Given the description of an element on the screen output the (x, y) to click on. 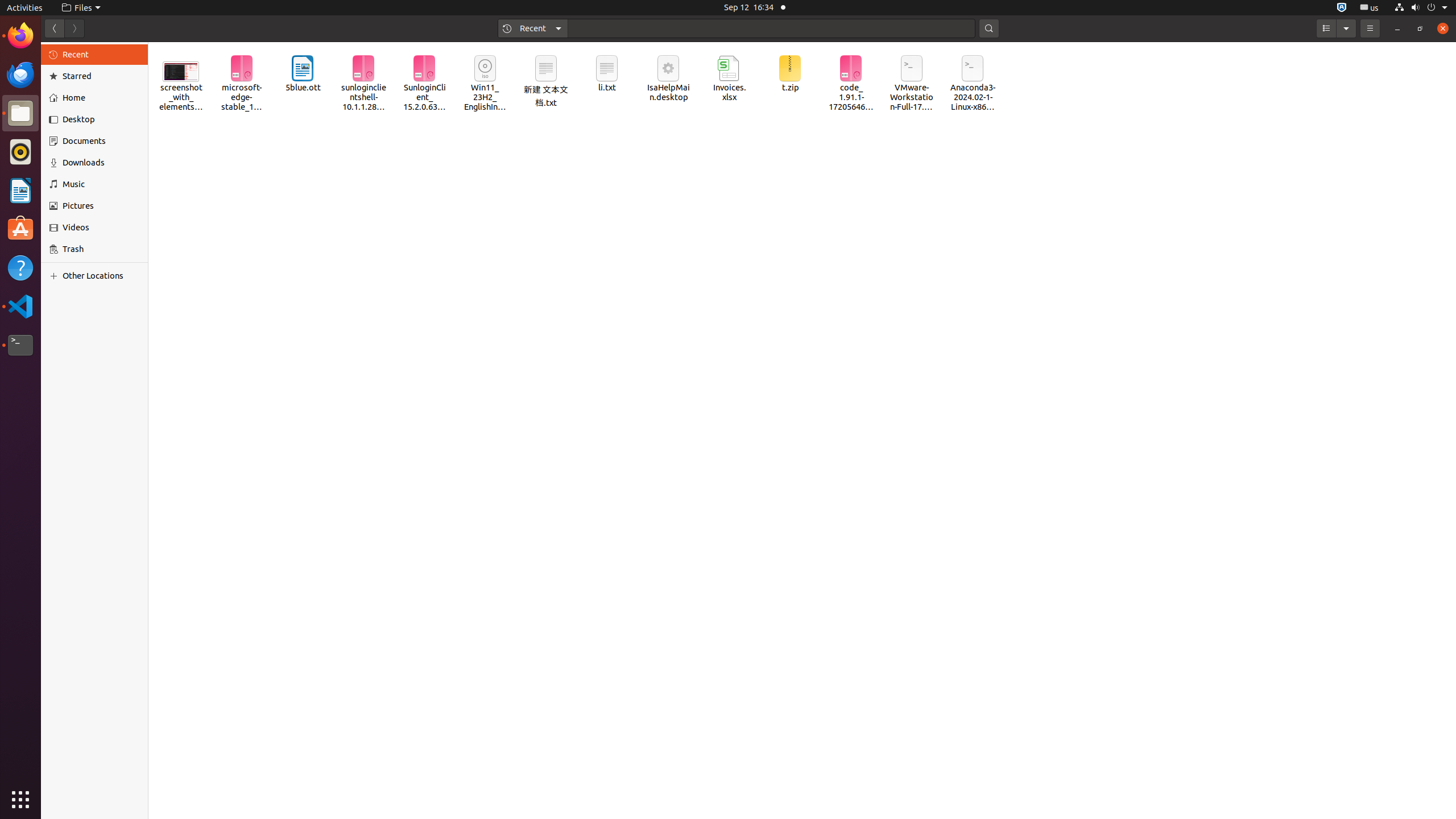
Terminal Element type: push-button (20, 344)
Invoices.xlsx Element type: canvas (728, 78)
